Given the description of an element on the screen output the (x, y) to click on. 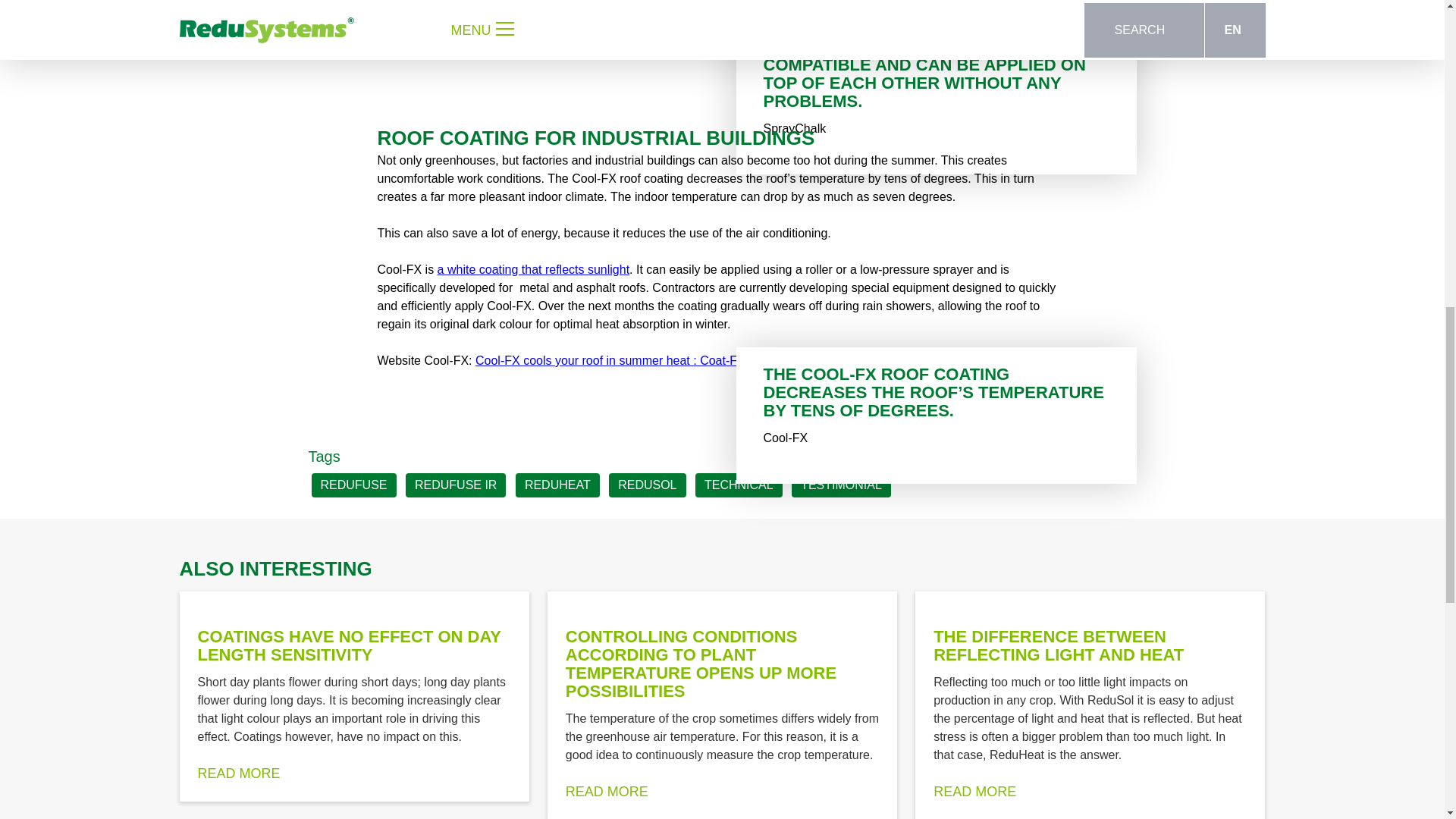
REDUSOL (646, 485)
Cool-FX cools your roof in summer heat : Coat-FX (610, 359)
TESTIMONIAL (841, 485)
REDUFUSE IR (455, 485)
a white coating that reflects sunlight (533, 269)
REDUHEAT (557, 485)
TECHNICAL (739, 485)
REDUFUSE (353, 485)
